Given the description of an element on the screen output the (x, y) to click on. 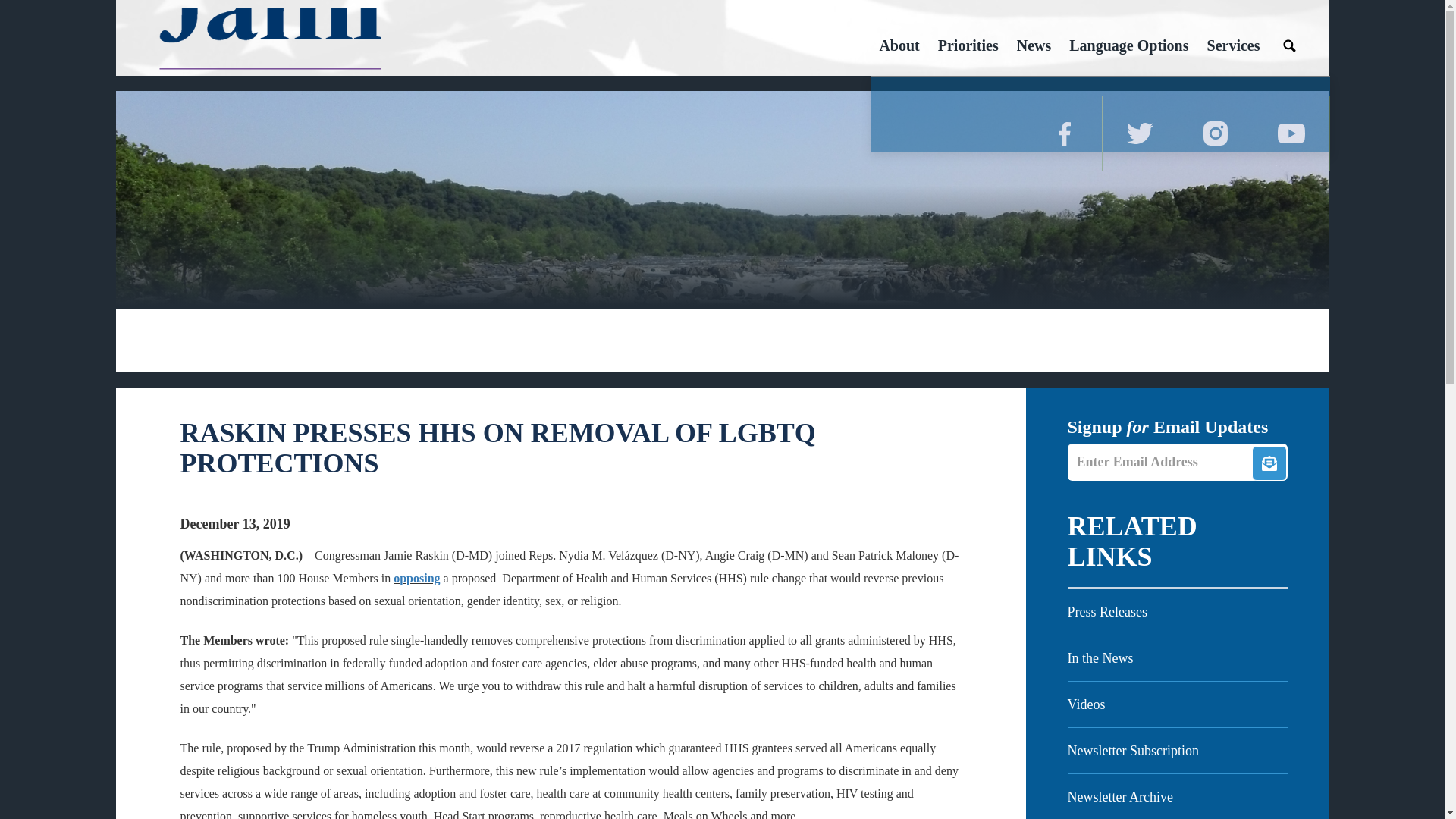
CONGRESSMAN JAMIE RASKIN (266, 41)
Priorities (967, 45)
Language Options (1127, 45)
About (898, 45)
